Given the description of an element on the screen output the (x, y) to click on. 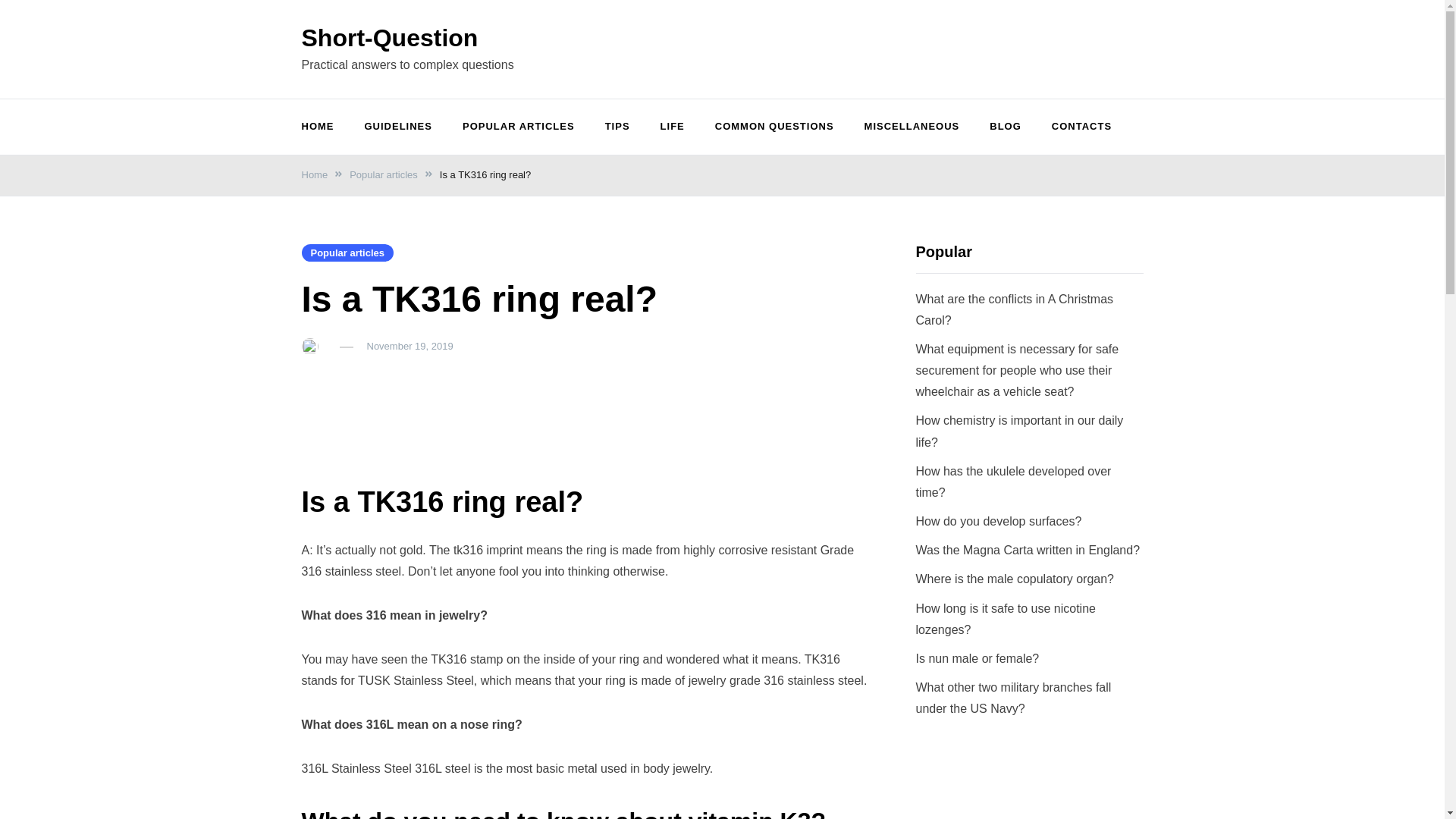
How do you develop surfaces? (998, 521)
Popular articles (383, 174)
MISCELLANEOUS (911, 126)
Where is the male copulatory organ? (1014, 578)
LIFE (672, 126)
November 19, 2019 (409, 346)
Popular articles (347, 252)
COMMON QUESTIONS (774, 126)
How chemistry is important in our daily life? (1019, 430)
